Given the description of an element on the screen output the (x, y) to click on. 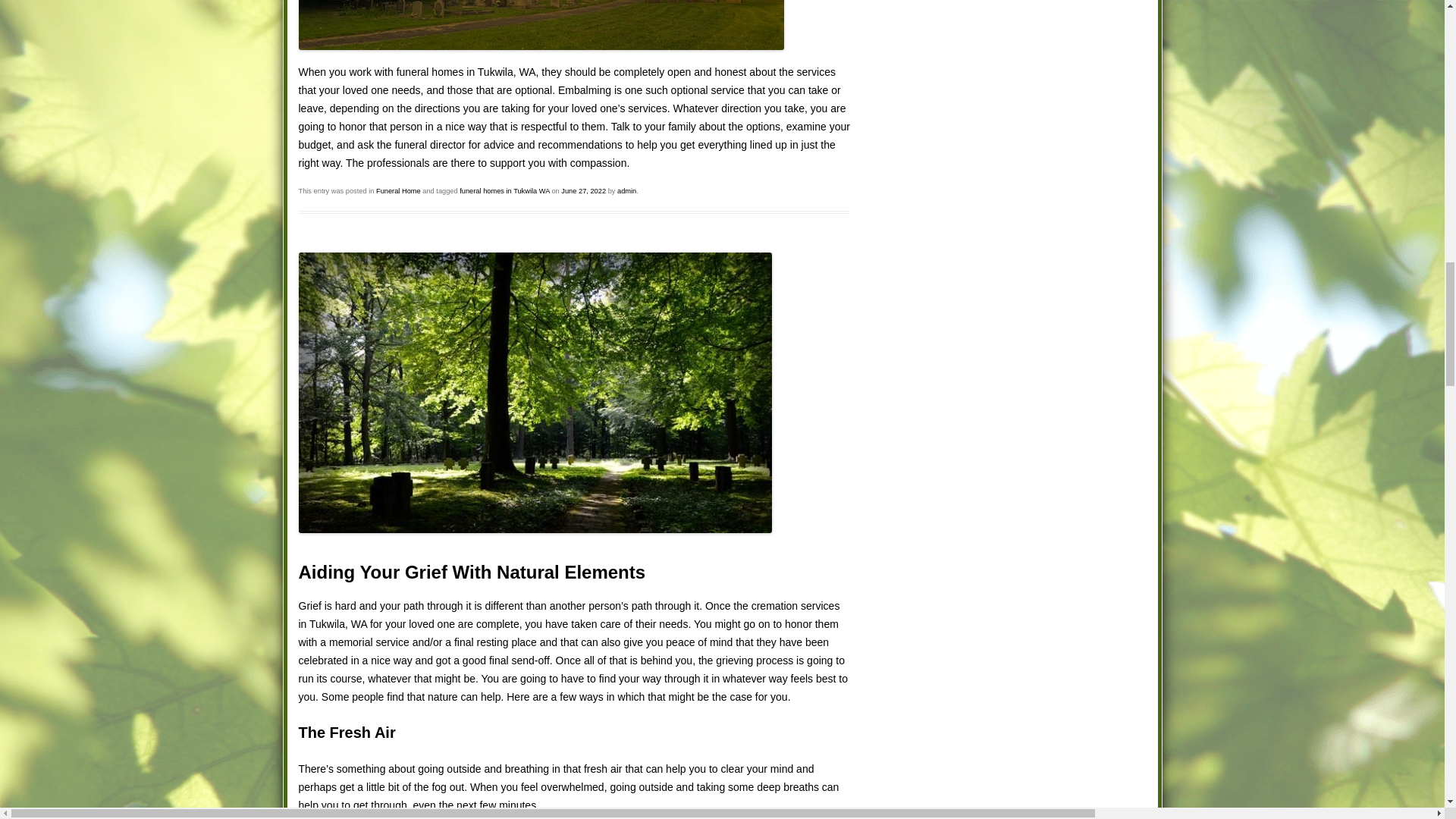
5:02 am (582, 190)
funeral homes (430, 71)
funeral homes in Tukwila WA (505, 190)
View all posts by admin (626, 190)
Funeral Home (397, 190)
